Given the description of an element on the screen output the (x, y) to click on. 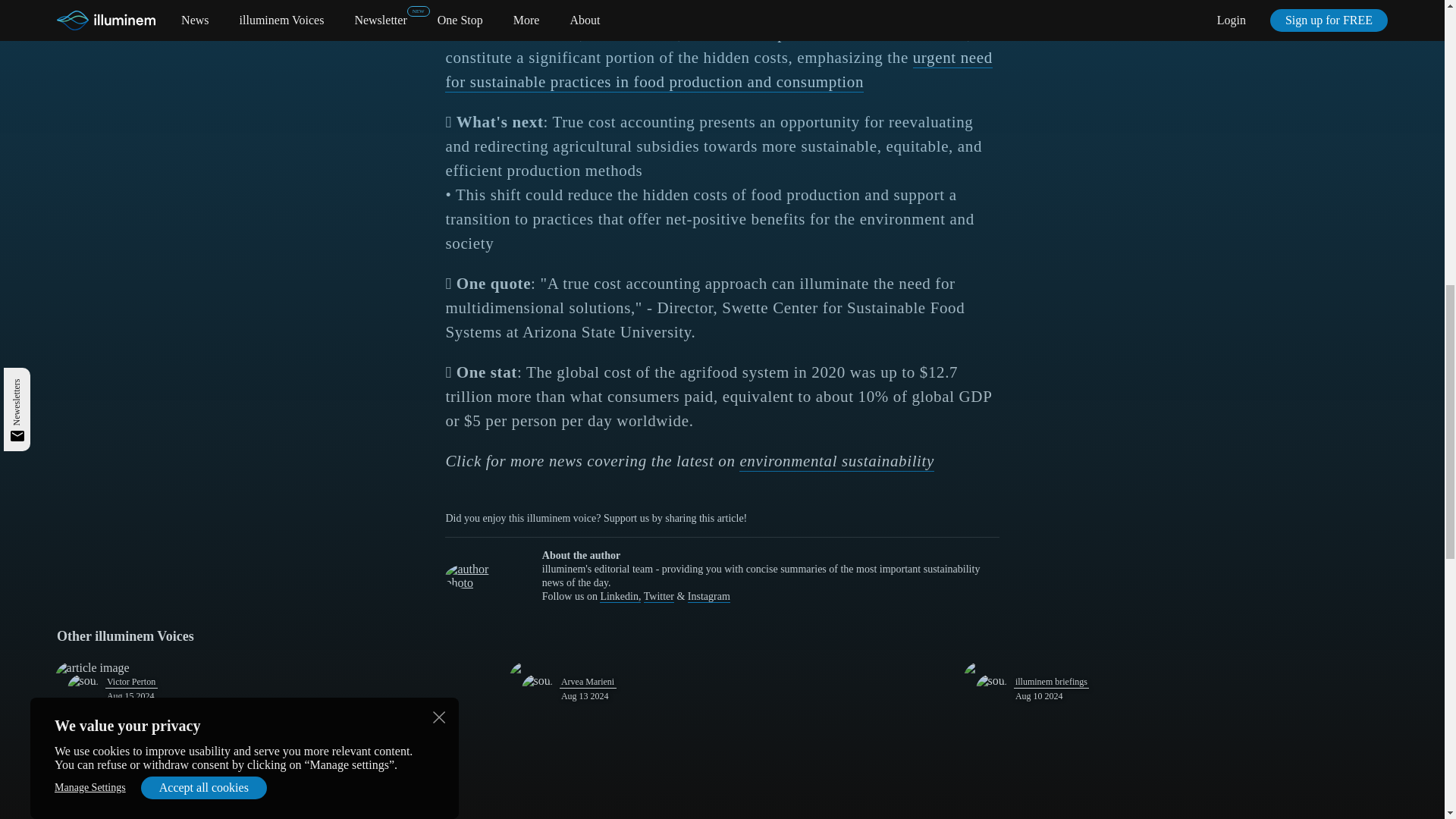
environmental sustainability (836, 461)
Twitter (658, 596)
Linkedin, (619, 596)
Instagram (708, 596)
